Given the description of an element on the screen output the (x, y) to click on. 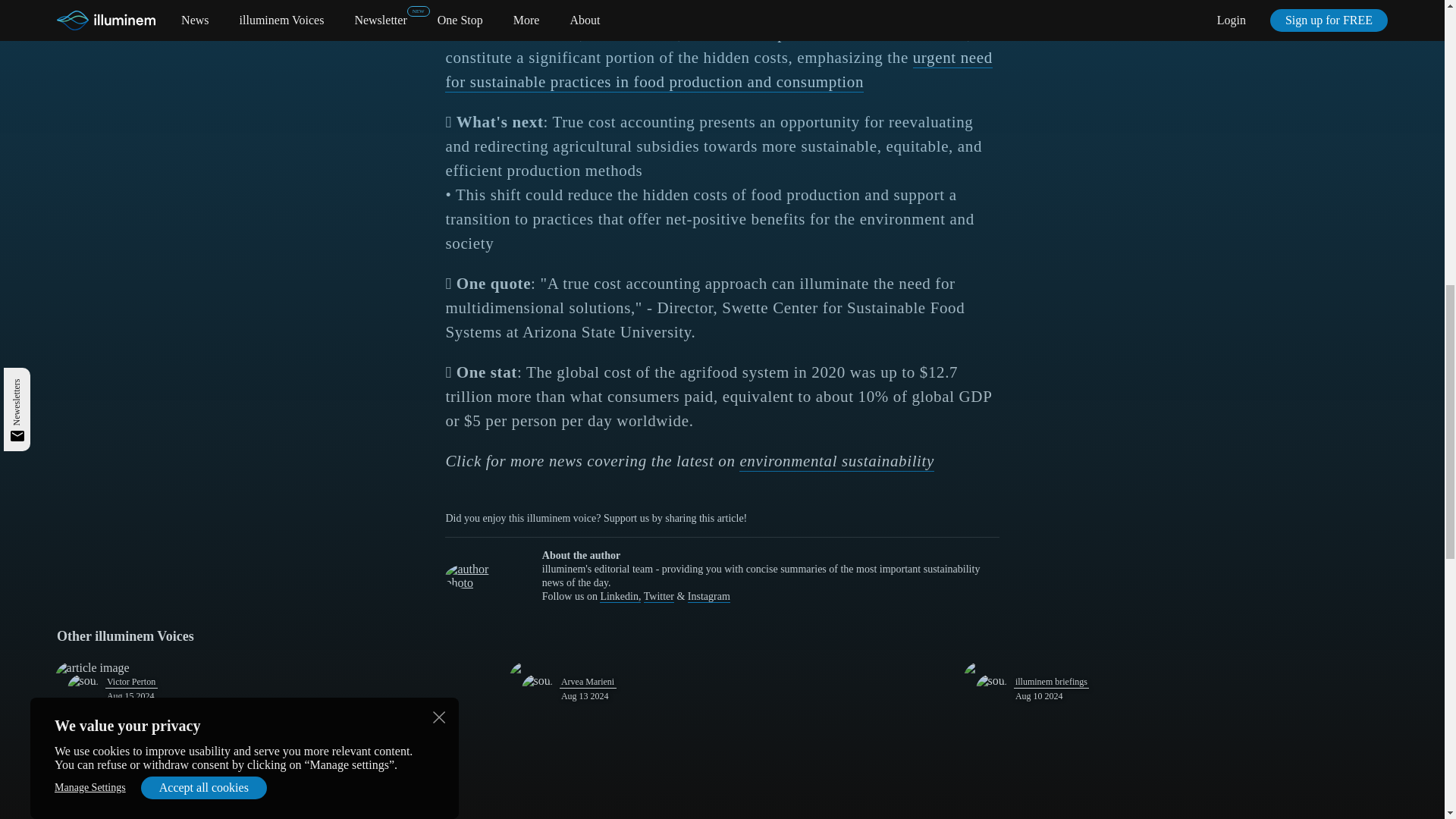
environmental sustainability (836, 461)
Twitter (658, 596)
Linkedin, (619, 596)
Instagram (708, 596)
